Given the description of an element on the screen output the (x, y) to click on. 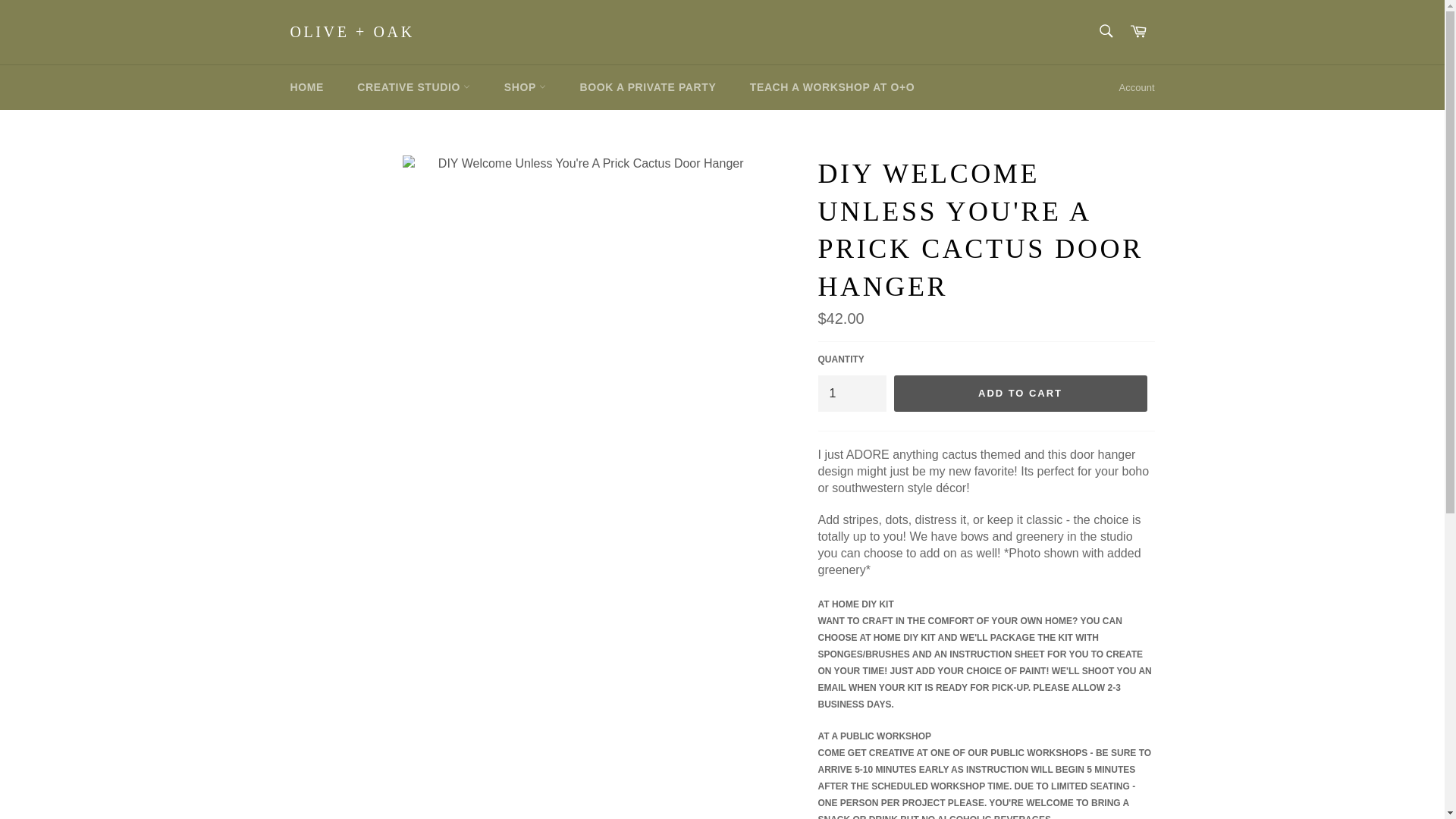
1 (850, 393)
